Given the description of an element on the screen output the (x, y) to click on. 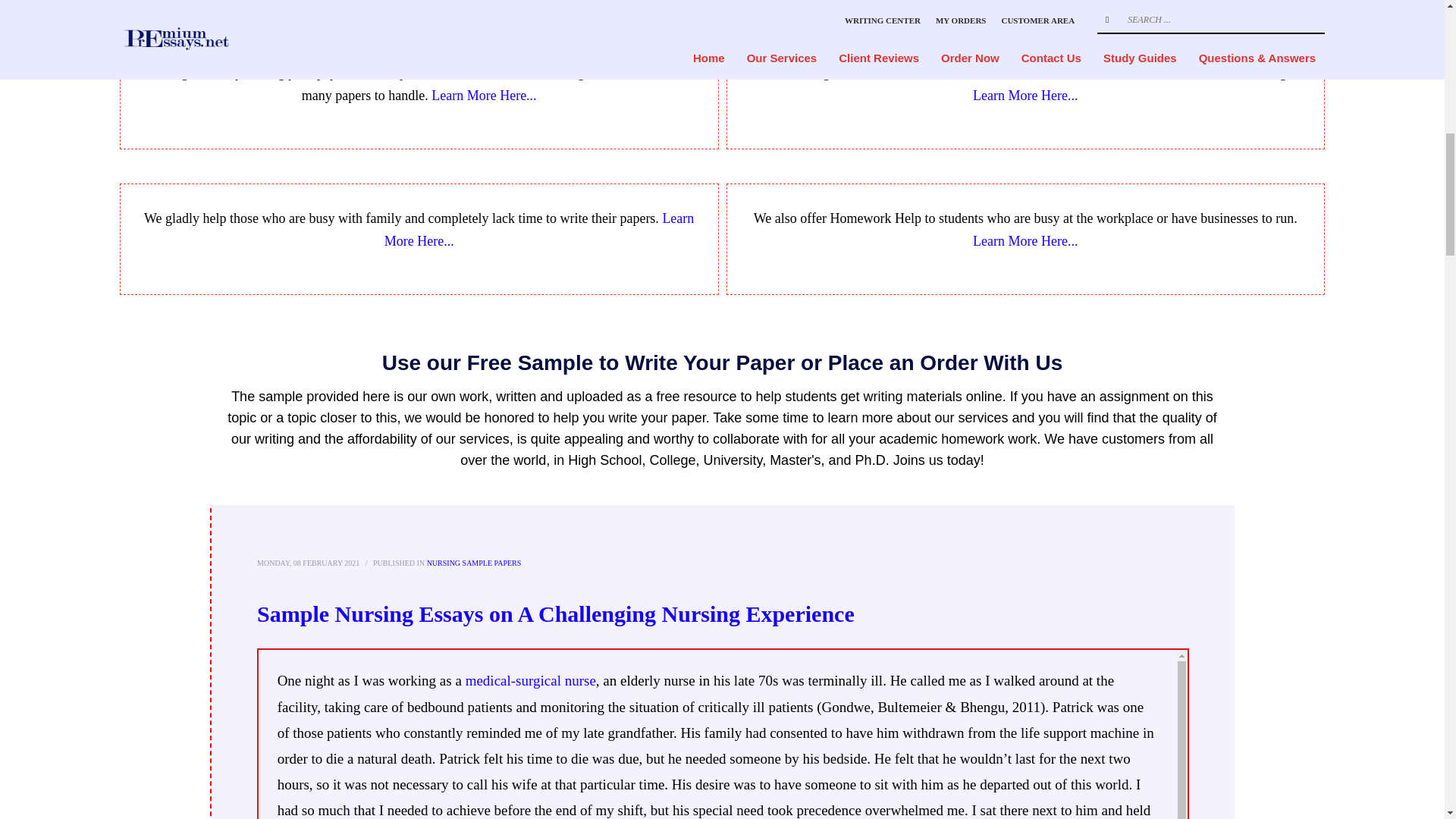
Learn More Here... (1024, 240)
medical-surgical nurse (530, 680)
NURSING SAMPLE PAPERS (473, 562)
Learn More Here... (1024, 95)
Learn More Here... (539, 229)
Learn More Here... (482, 95)
